Given the description of an element on the screen output the (x, y) to click on. 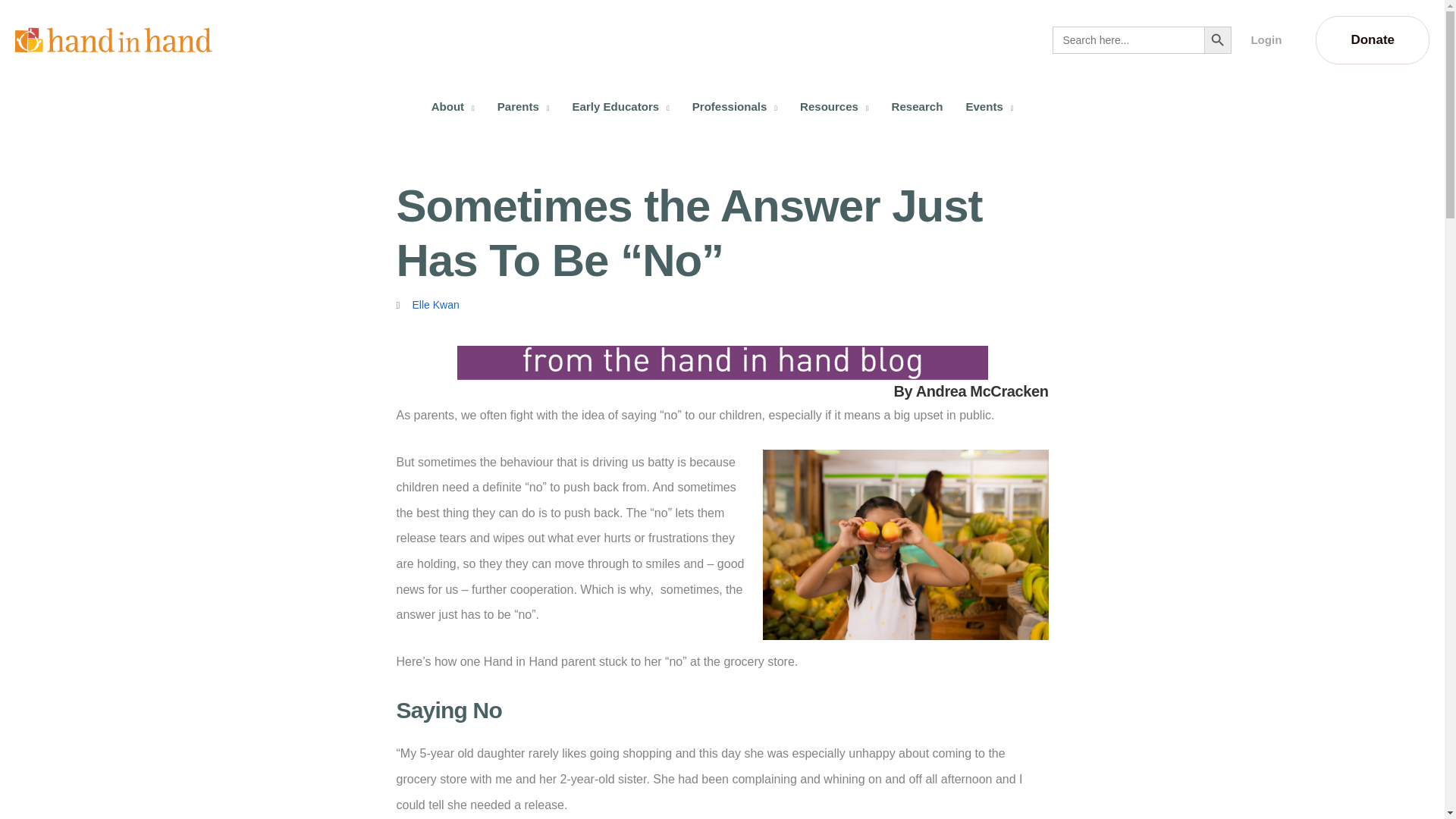
Donate (1372, 39)
About (453, 106)
Early Educators (620, 106)
Parents (523, 106)
Resources (834, 106)
Search Button (1217, 40)
Professionals (735, 106)
Login (1265, 40)
